Given the description of an element on the screen output the (x, y) to click on. 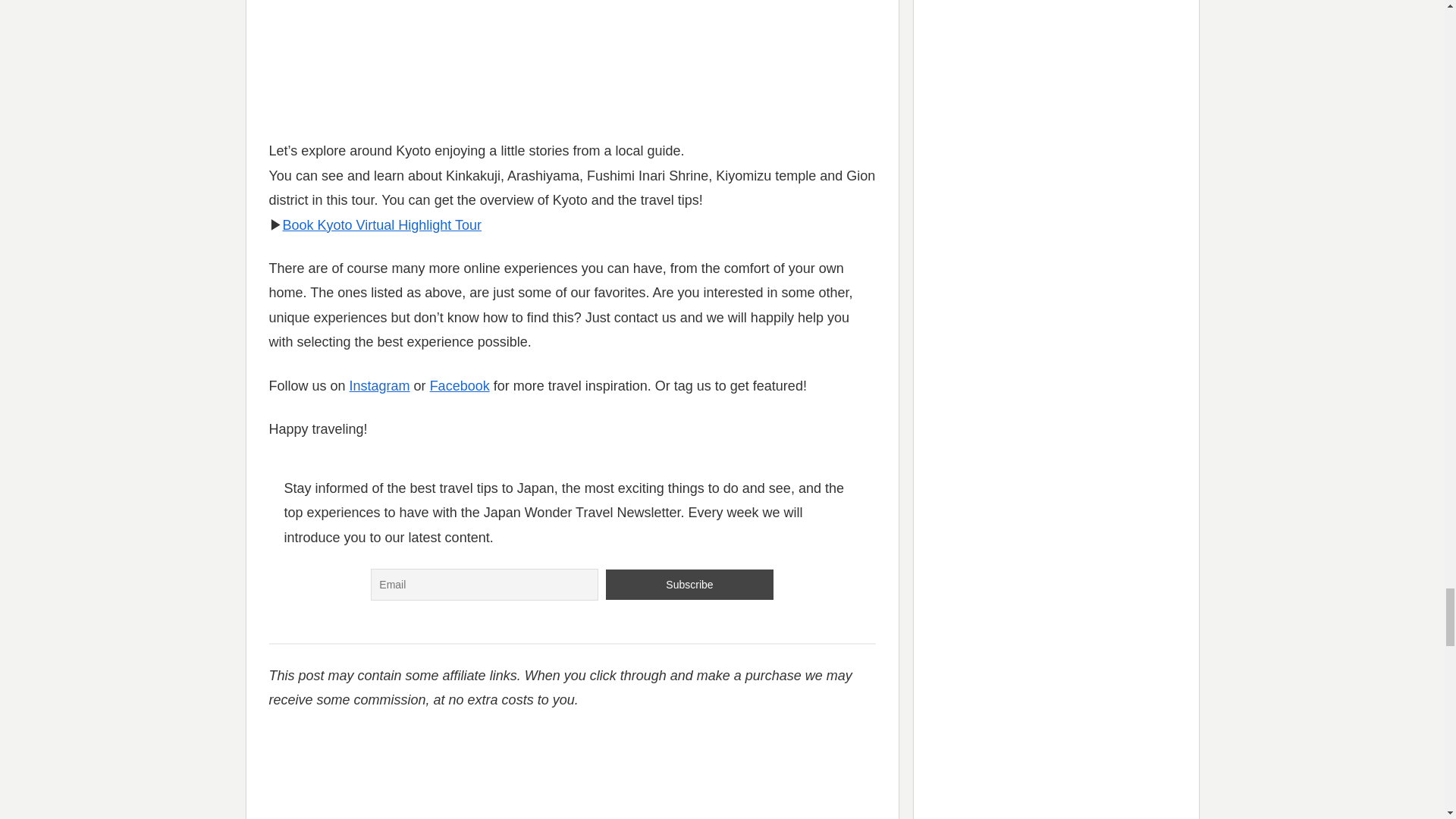
Subscribe (689, 584)
